Given the description of an element on the screen output the (x, y) to click on. 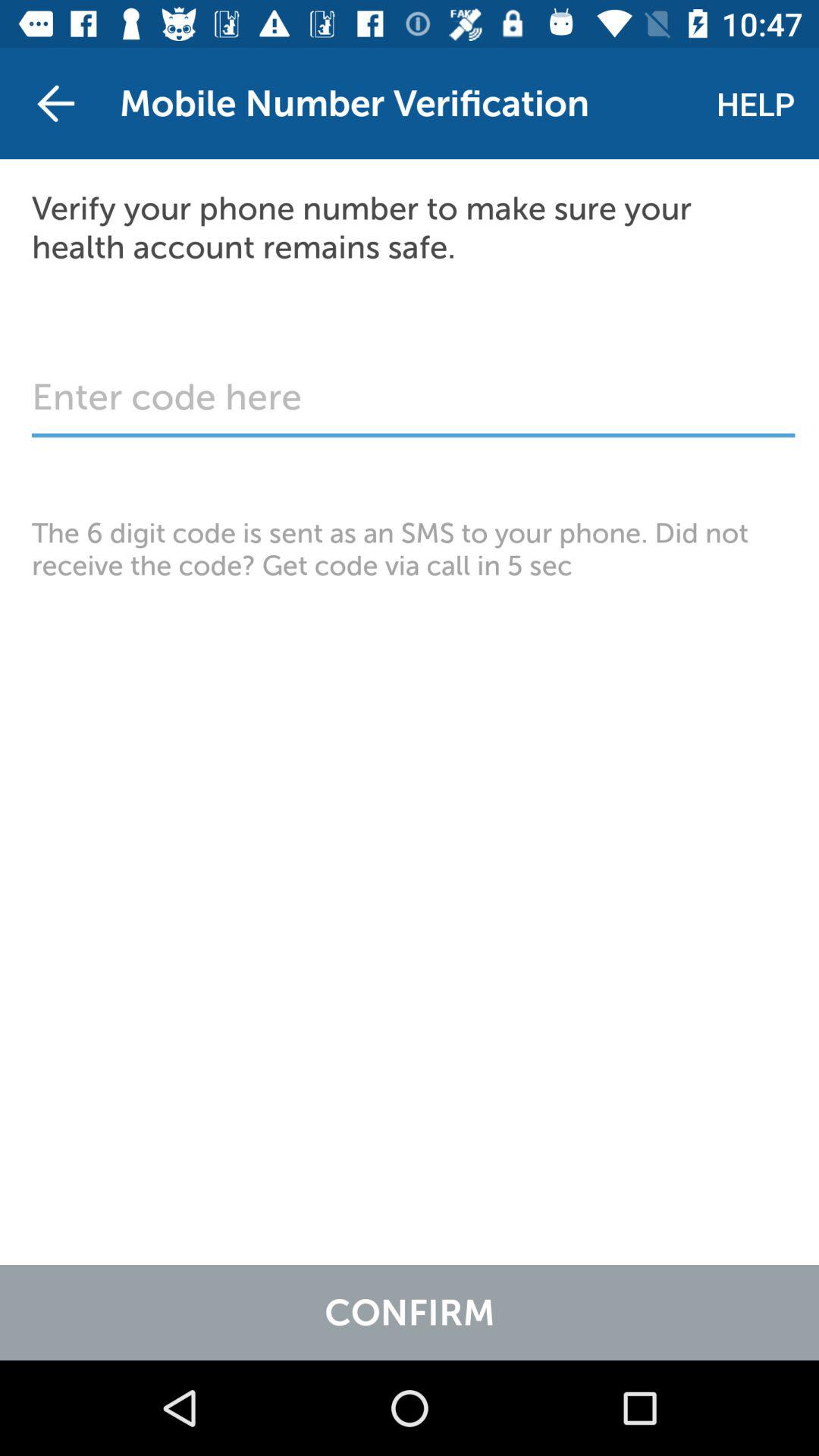
turn on the icon above the verify your phone (55, 103)
